Given the description of an element on the screen output the (x, y) to click on. 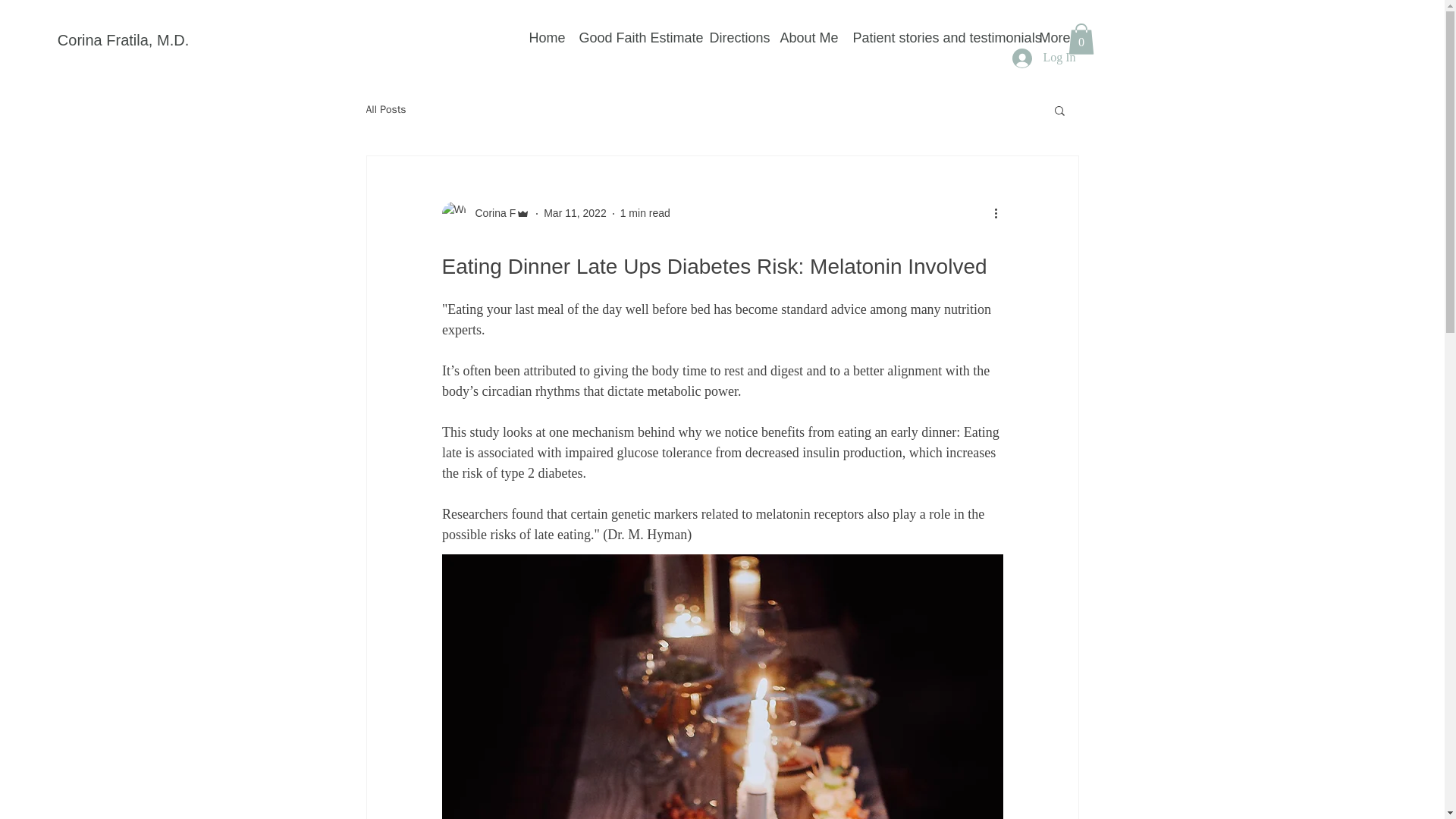
Corina Fratila, M.D. (123, 39)
Log In (1043, 58)
About Me (807, 37)
Directions (737, 37)
Corina F (490, 213)
Mar 11, 2022 (575, 213)
All Posts (385, 110)
Patient stories and testimonials (937, 37)
Home (546, 37)
Corina F (485, 213)
Good Faith Estimate (636, 37)
1 min read (644, 213)
